Given the description of an element on the screen output the (x, y) to click on. 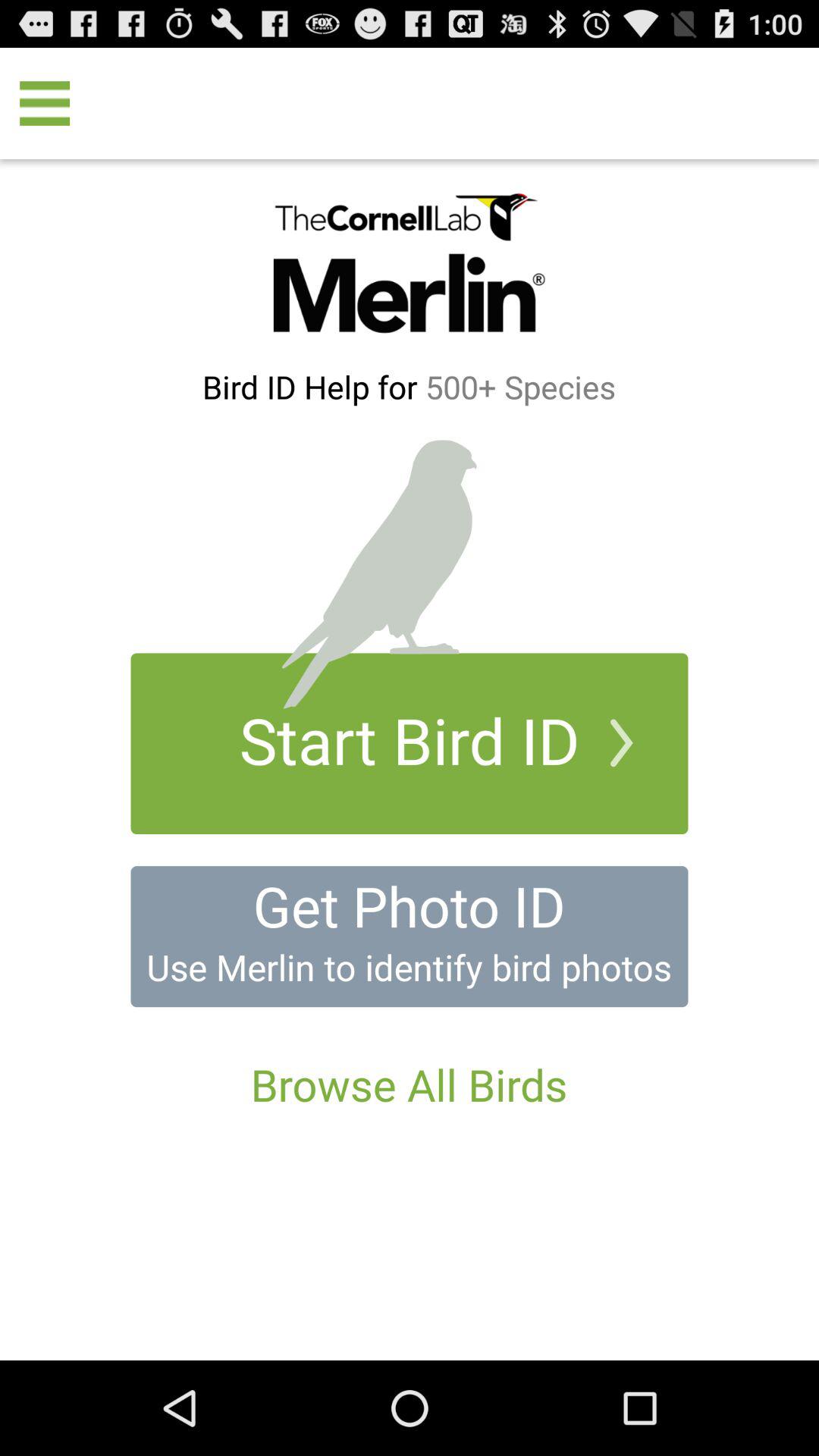
press icon above use merlin to (409, 905)
